Given the description of an element on the screen output the (x, y) to click on. 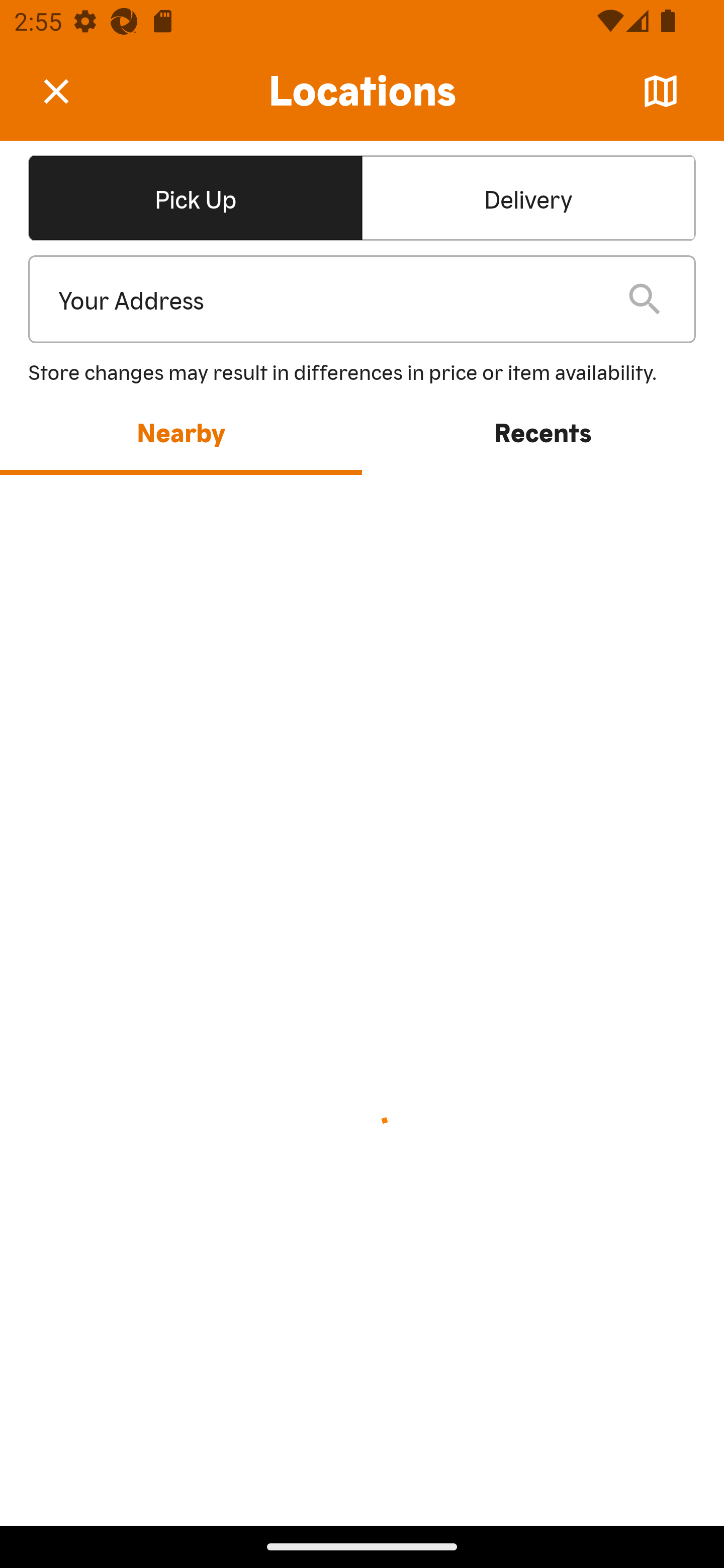
 (70, 90)
Map 󰦂 (660, 91)
Locations (362, 91)
Pick UpSelected Pick UpSelected Pick Up (195, 197)
Delivery Delivery Delivery (528, 197)
Your Address (327, 299)
Nearby (181, 430)
Recents (543, 430)
